Given the description of an element on the screen output the (x, y) to click on. 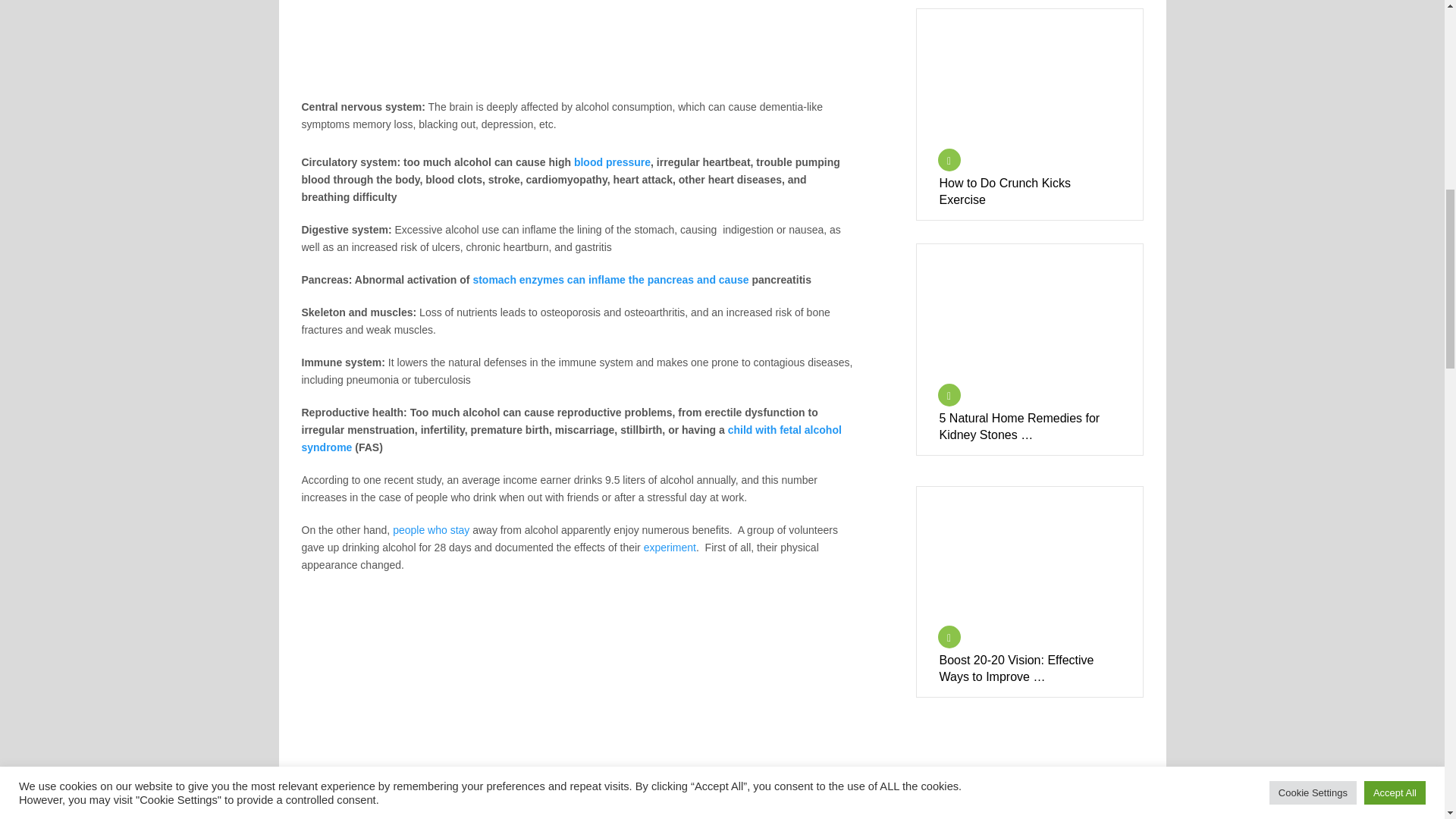
blood pressure (611, 162)
people who stay (430, 530)
stomach enzymes can inflame the pancreas and cause (609, 279)
experiment (669, 547)
Advertisement (578, 49)
child with fetal alcohol syndrome (571, 438)
